Given the description of an element on the screen output the (x, y) to click on. 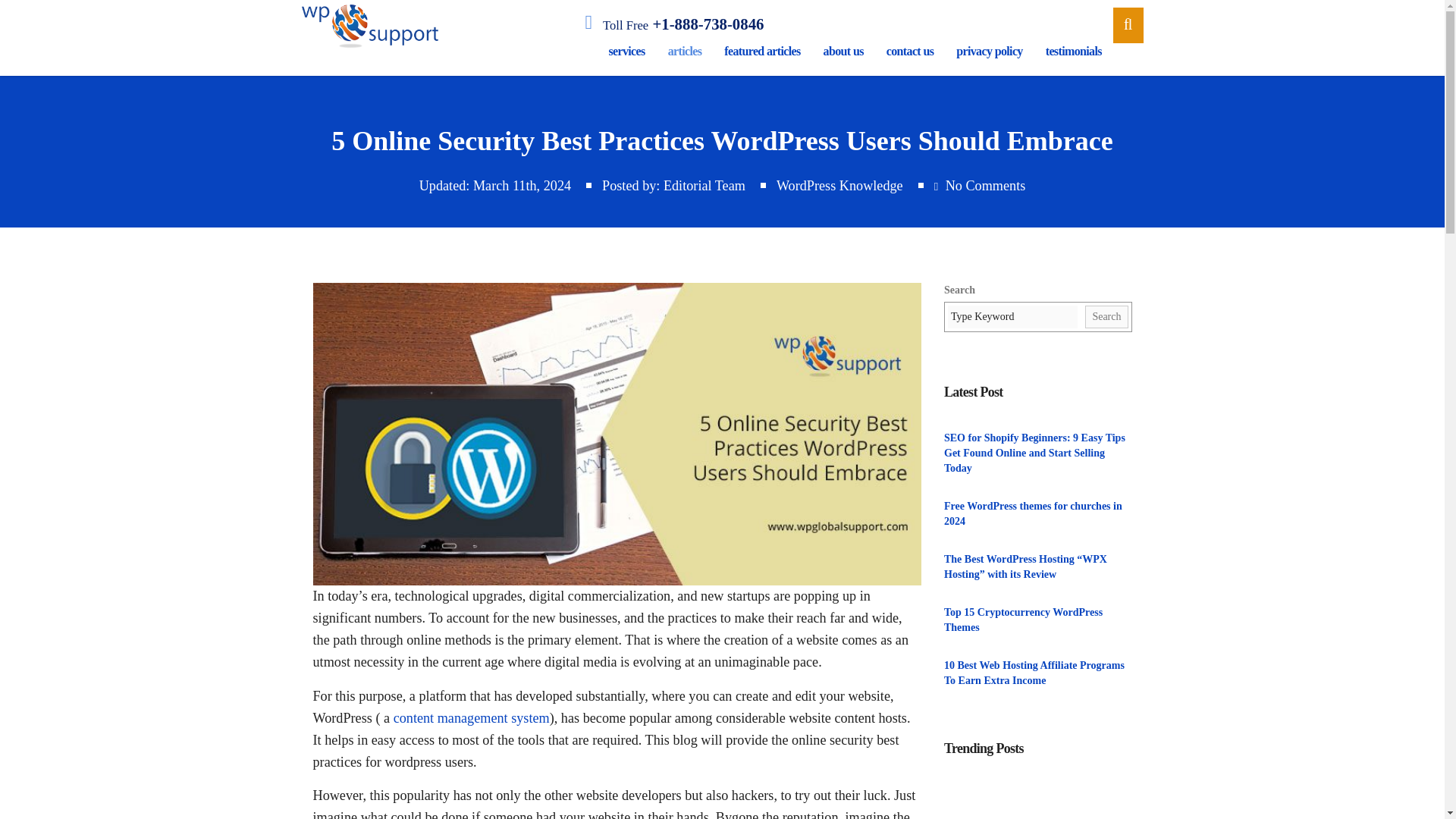
testimonials (1073, 51)
featured articles (761, 51)
privacy policy (988, 51)
services (626, 51)
articles (684, 51)
about us (843, 51)
contact us (909, 51)
